Given the description of an element on the screen output the (x, y) to click on. 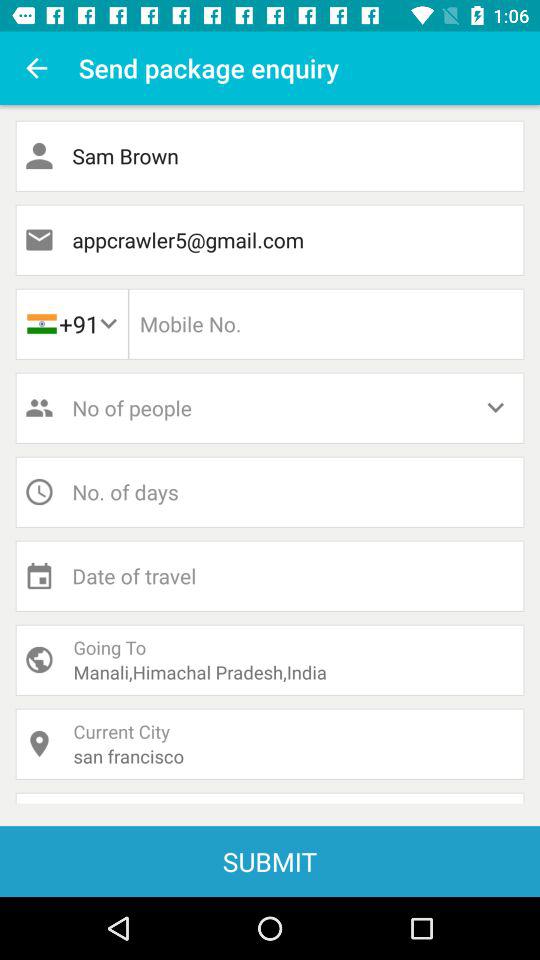
days button (269, 491)
